Given the description of an element on the screen output the (x, y) to click on. 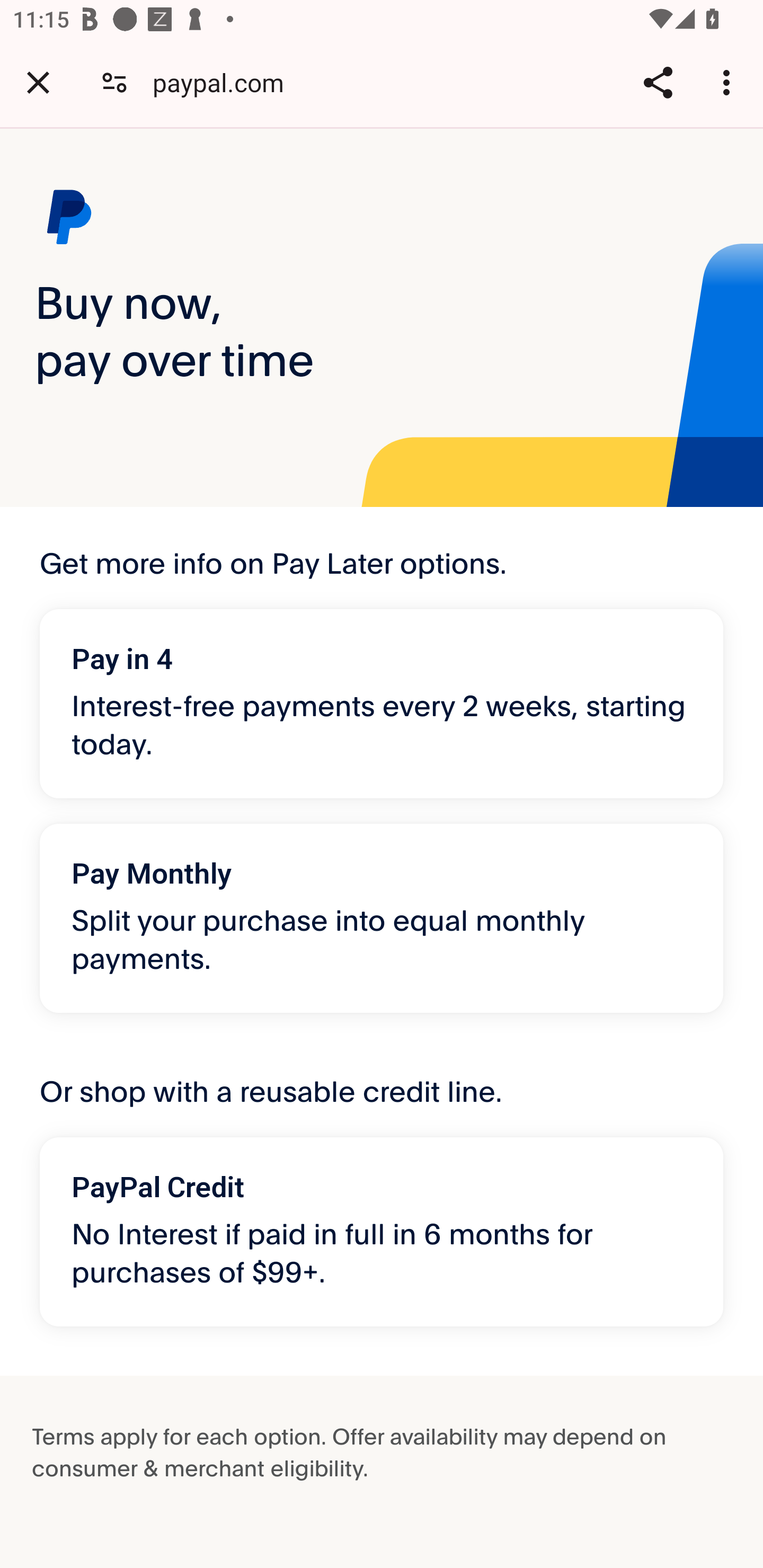
Close tab (38, 82)
Share (657, 82)
Customize and control Google Chrome (729, 82)
Connection is secure (114, 81)
paypal.com (224, 81)
